Given the description of an element on the screen output the (x, y) to click on. 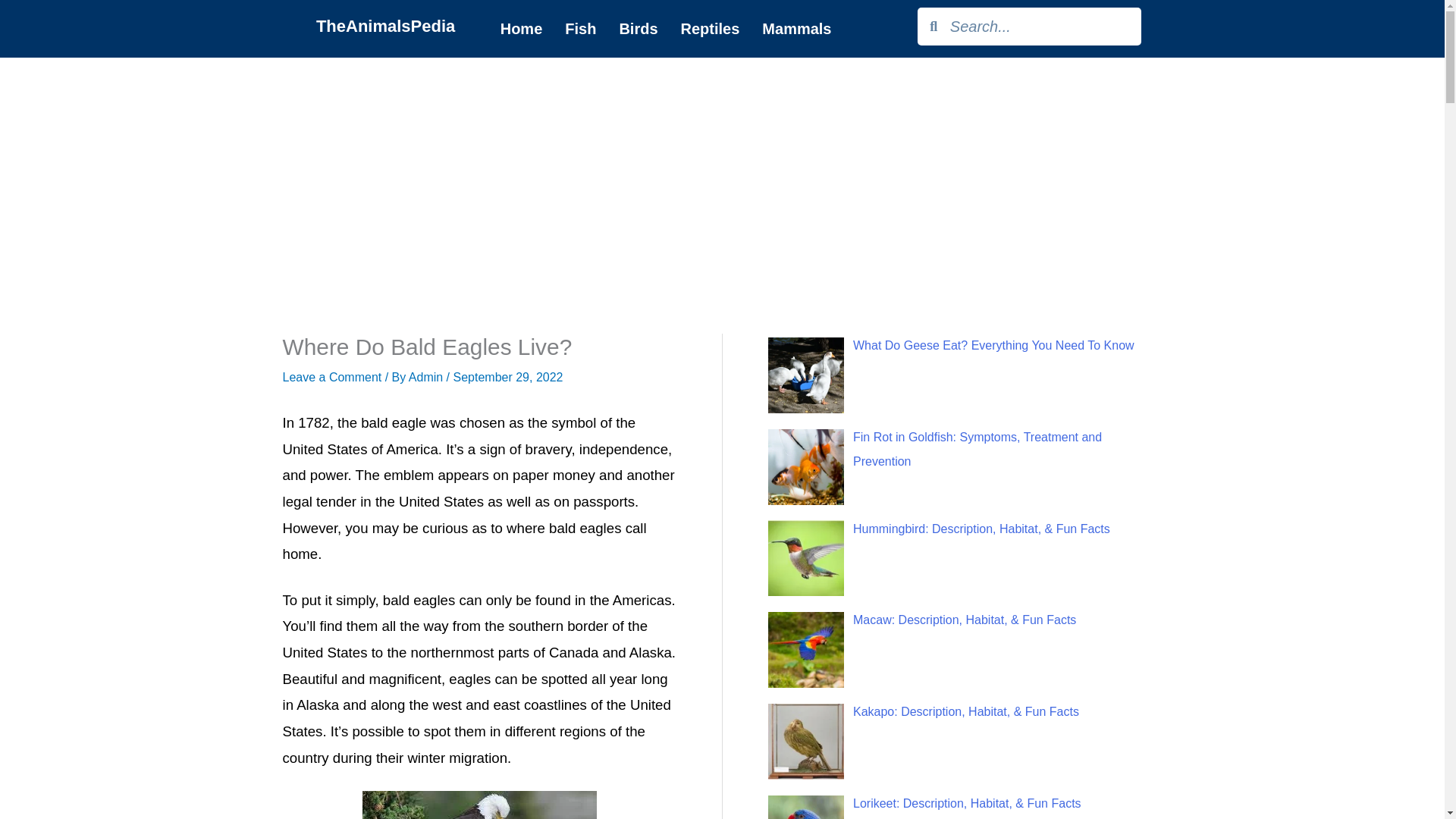
Fish (580, 28)
Leave a Comment (331, 377)
Admin (427, 377)
Home (521, 28)
TheAnimalsPedia (384, 26)
Reptiles (710, 28)
What Do Geese Eat? Everything You Need To Know (993, 345)
Mammals (797, 28)
View all posts by Admin (427, 377)
Fin Rot in Goldfish: Symptoms, Treatment and Prevention (977, 448)
Birds (637, 28)
